Given the description of an element on the screen output the (x, y) to click on. 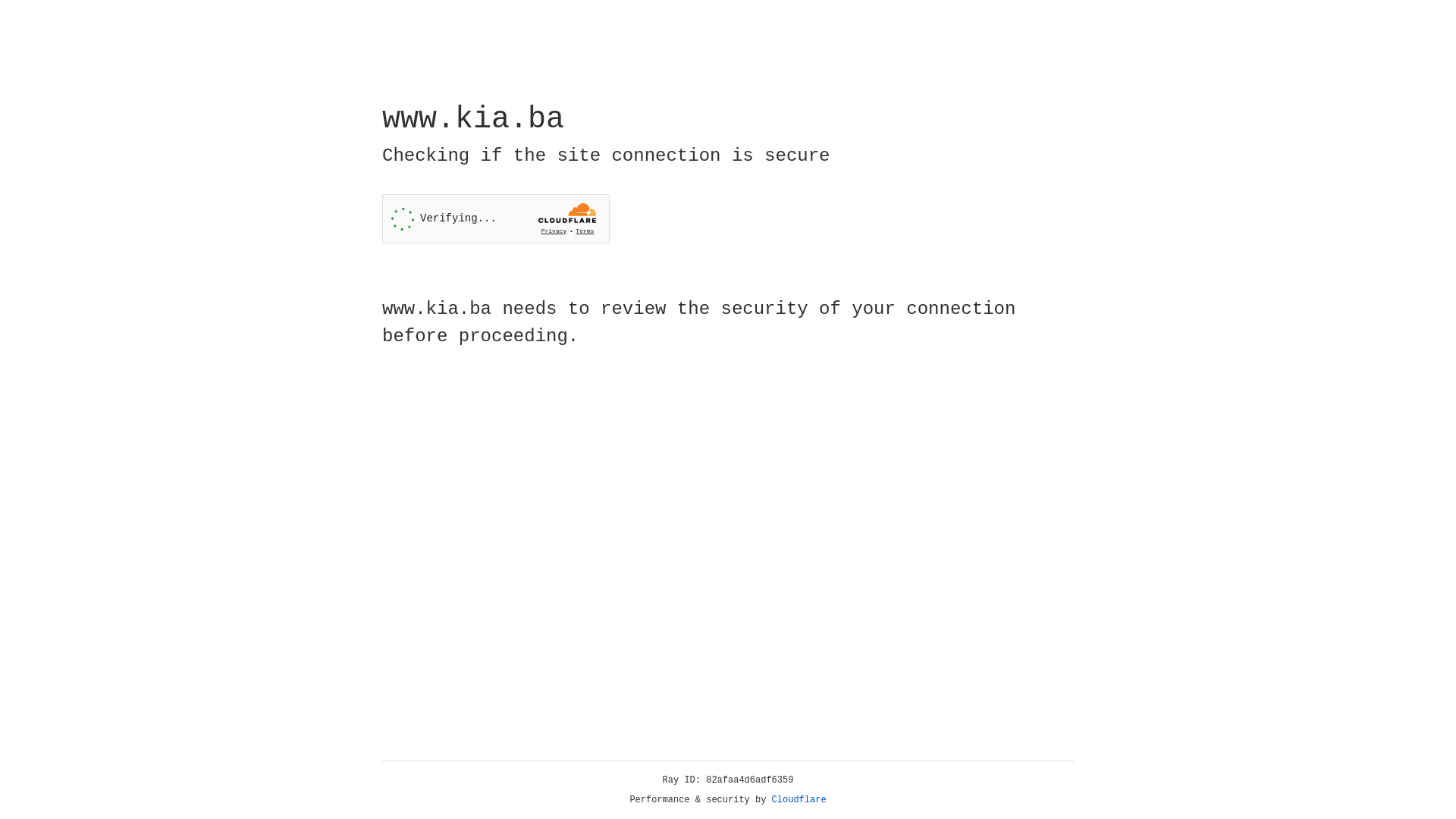
Widget containing a Cloudflare security challenge Element type: hover (495, 218)
Cloudflare Element type: text (798, 799)
